Given the description of an element on the screen output the (x, y) to click on. 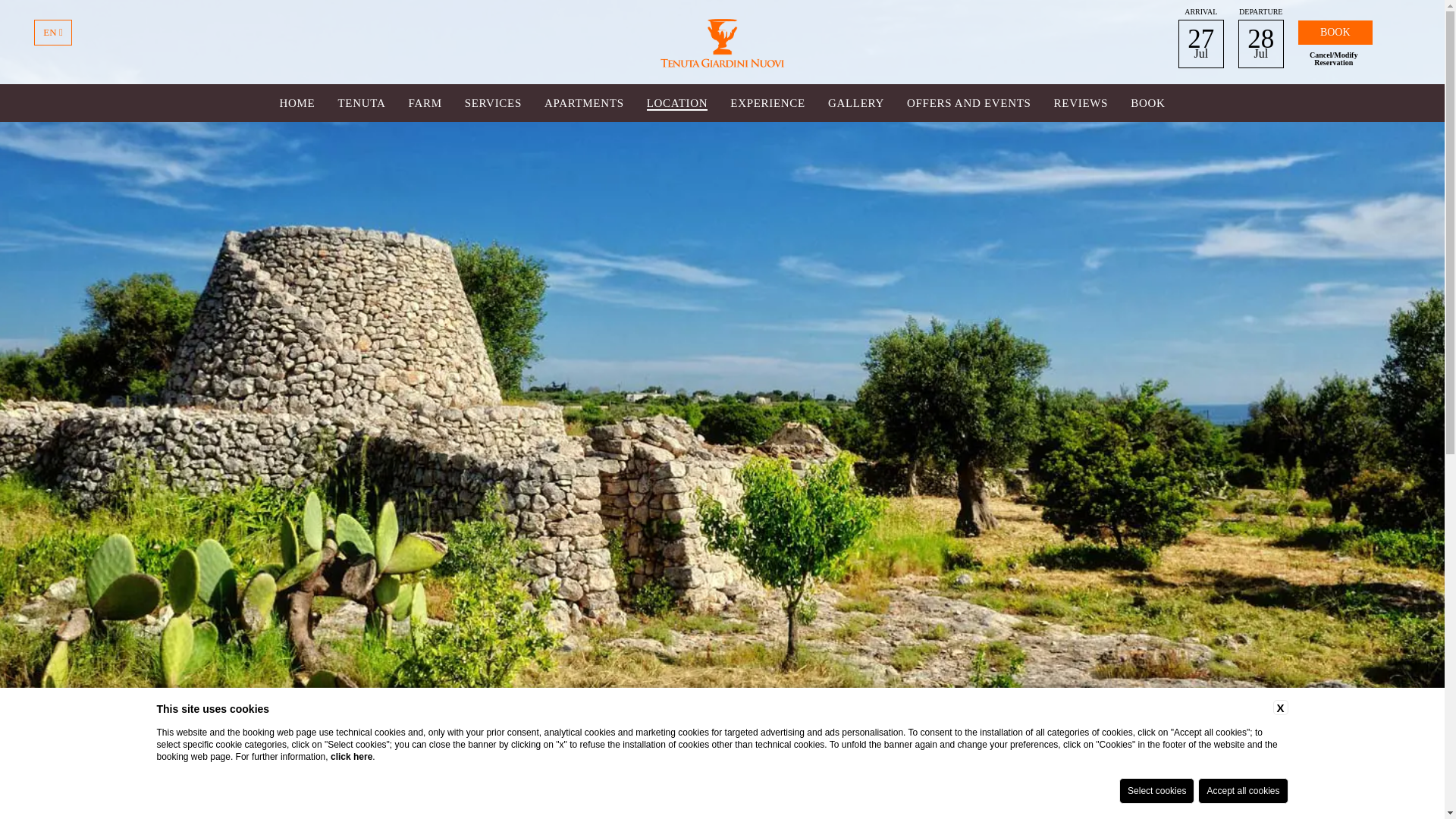
OFFERS AND EVENTS (968, 102)
Book (1335, 32)
GALLERY (855, 102)
Select cookies (1156, 790)
EXPERIENCE (767, 102)
TENUTA (361, 102)
HOME (297, 102)
Book (1335, 32)
REVIEWS (1081, 102)
LOCATION (676, 103)
Novoli (721, 42)
BOOK (1147, 102)
SERVICES (492, 102)
Accept all cookies (1242, 790)
FARM (424, 102)
